Given the description of an element on the screen output the (x, y) to click on. 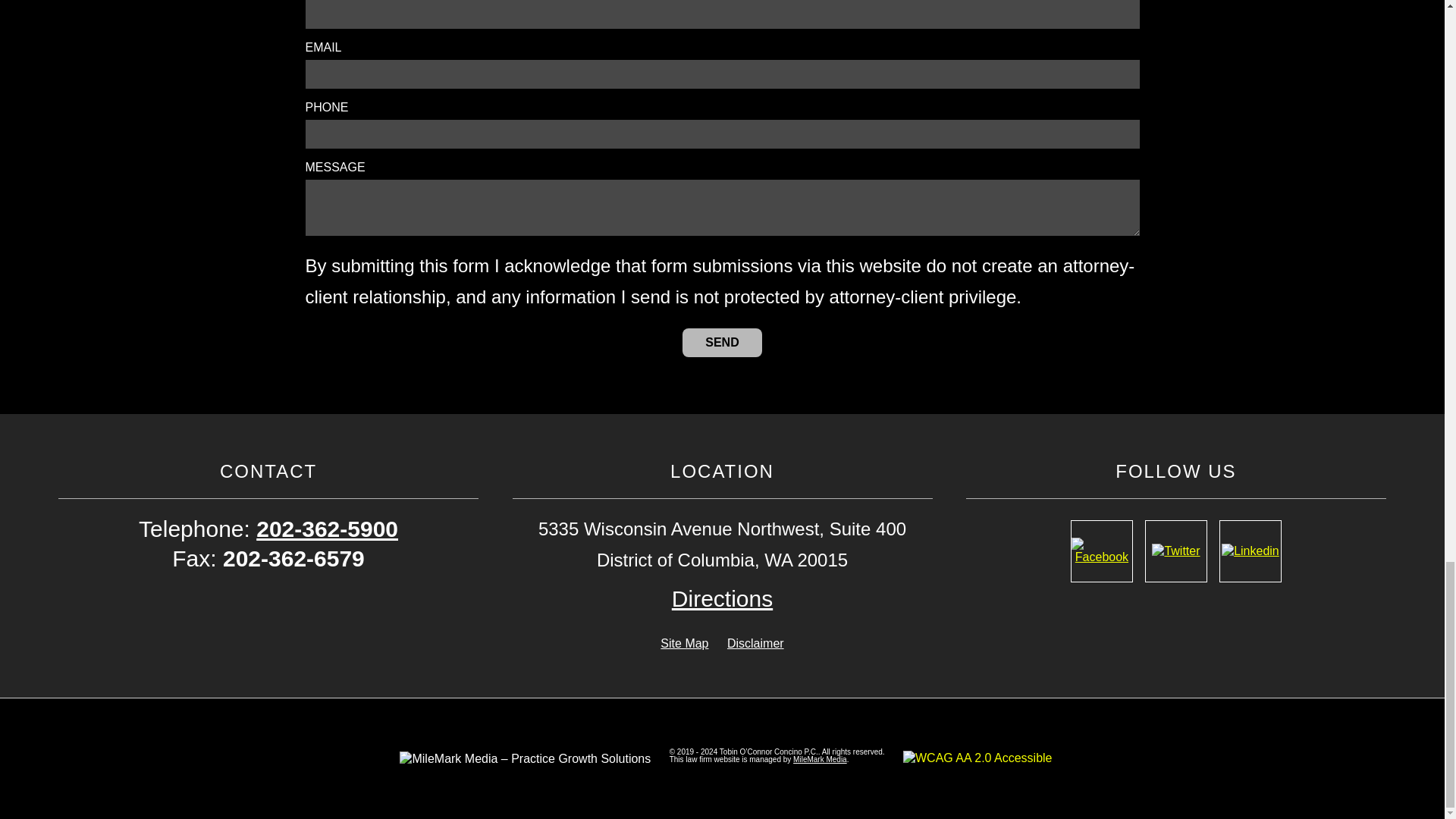
Open Linkedin in a New Window (1250, 551)
Open Twitter in a New Window (1175, 551)
Send (721, 342)
Open Facebook in a New Window (1101, 551)
Open Google Map in a New Window (722, 598)
